Given the description of an element on the screen output the (x, y) to click on. 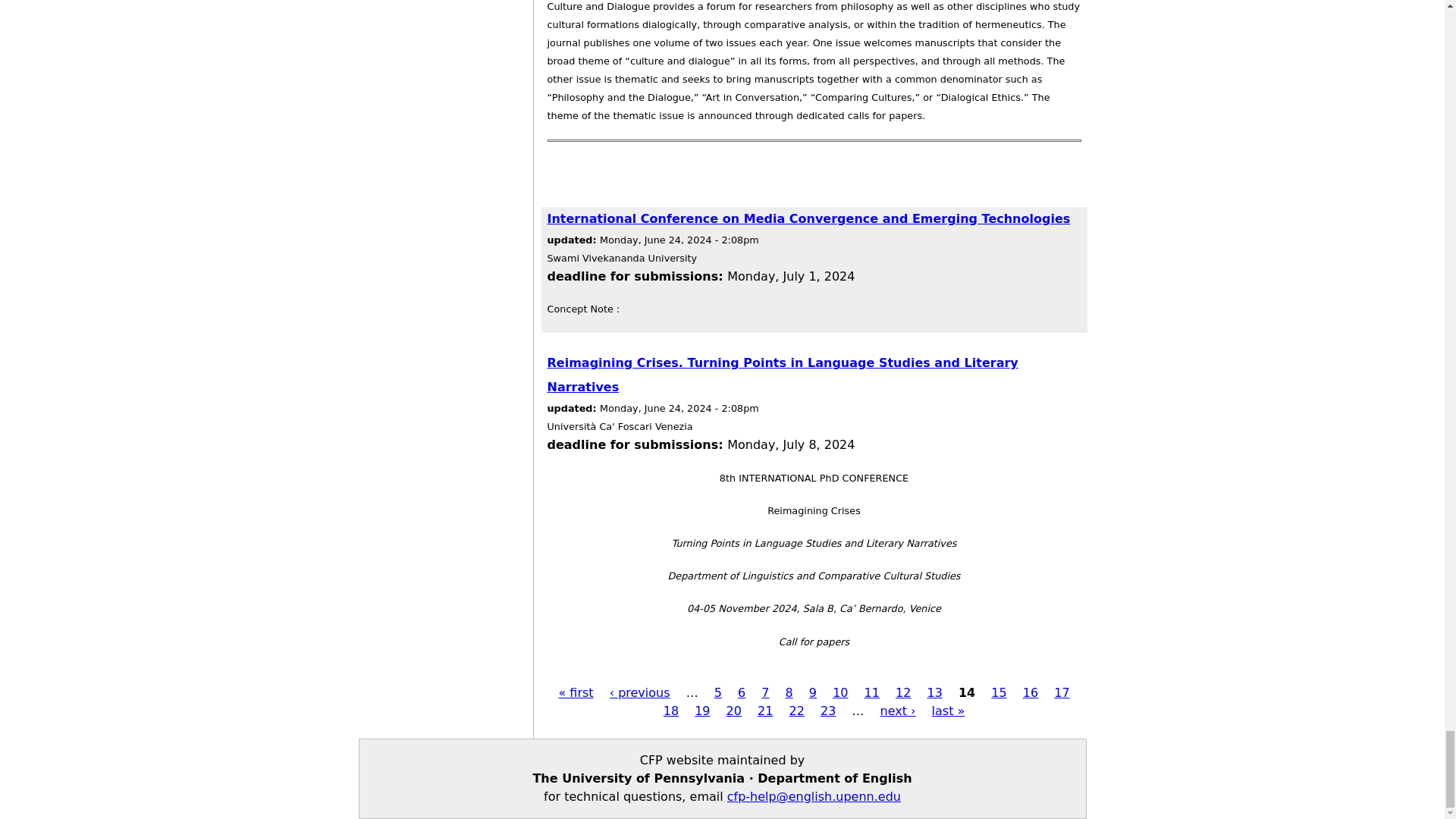
Go to page 12 (903, 692)
Go to page 13 (934, 692)
Go to page 20 (733, 710)
Go to page 23 (828, 710)
Go to page 11 (871, 692)
Go to page 18 (670, 710)
Go to page 22 (797, 710)
Go to page 16 (1030, 692)
Go to page 21 (765, 710)
Go to page 15 (998, 692)
Go to page 17 (1061, 692)
Go to page 10 (839, 692)
Go to page 19 (702, 710)
Go to first page (574, 692)
